Given the description of an element on the screen output the (x, y) to click on. 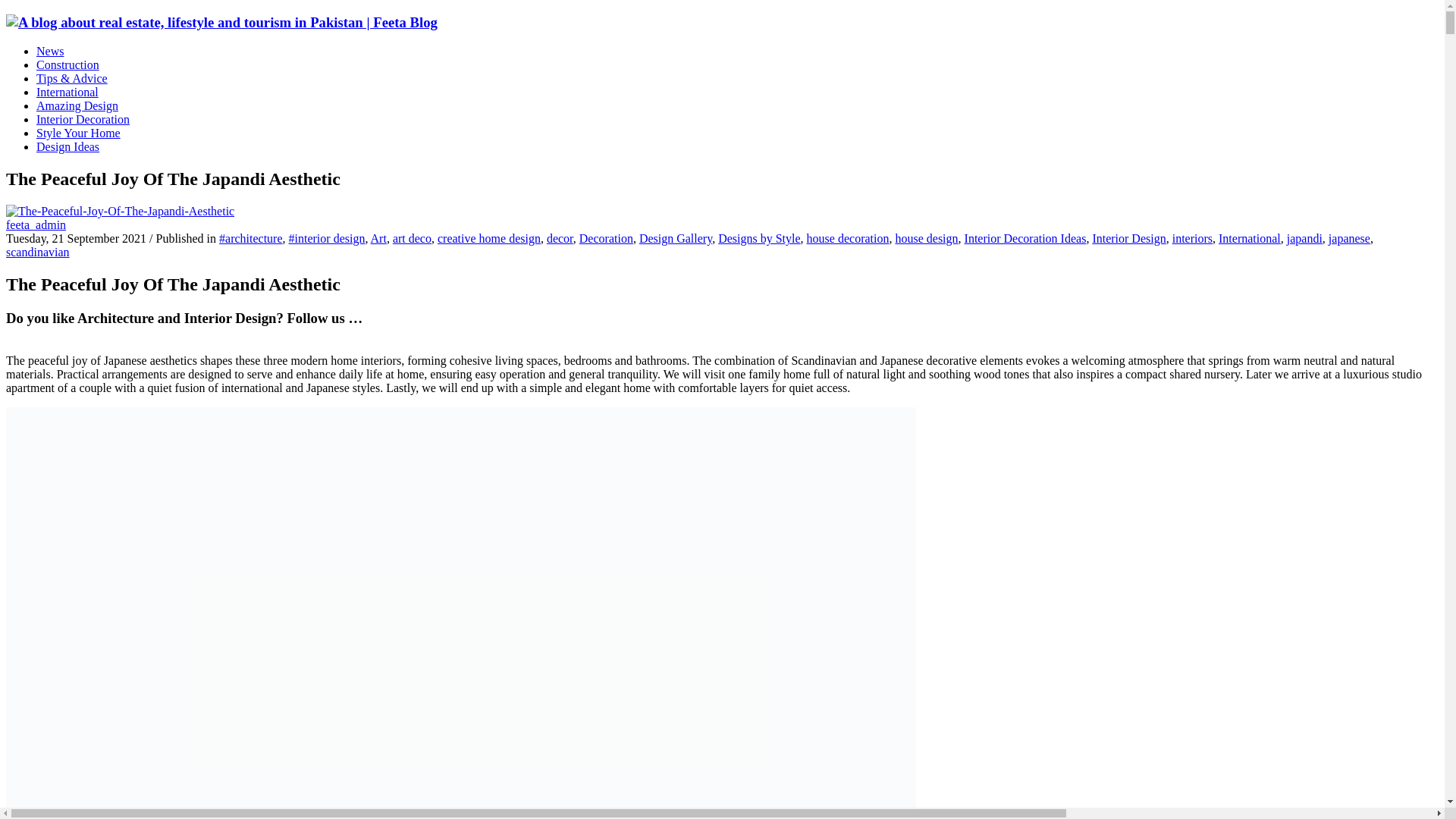
Interior Decoration (82, 119)
News (50, 51)
interiors (1192, 237)
house decoration (847, 237)
house design (926, 237)
International (1249, 237)
creative home design (489, 237)
Style Your Home (78, 132)
Interior Decoration Ideas (1024, 237)
The-Peaceful-Joy-Of-The-Japandi-Aesthetic (119, 211)
japanese (1348, 237)
Design Ideas (67, 146)
Art (379, 237)
Construction (67, 64)
Interior Design (1129, 237)
